Given the description of an element on the screen output the (x, y) to click on. 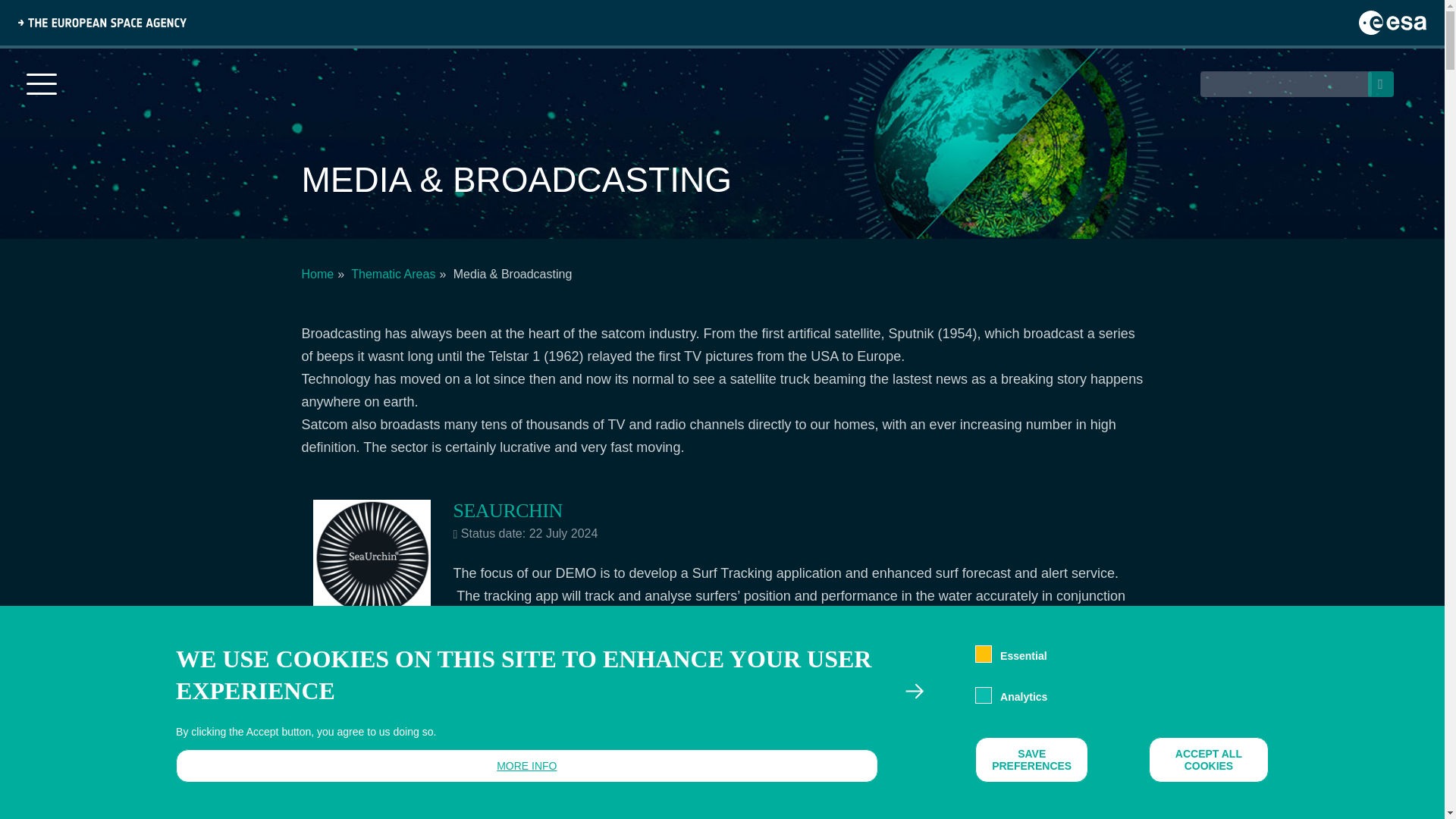
GEONEWSCHAIN (529, 741)
Enter the terms you wish to search for. (1285, 84)
Thematic Areas (392, 273)
required (983, 653)
analytics (983, 695)
SEAURCHIN (507, 510)
Home (317, 273)
